Given the description of an element on the screen output the (x, y) to click on. 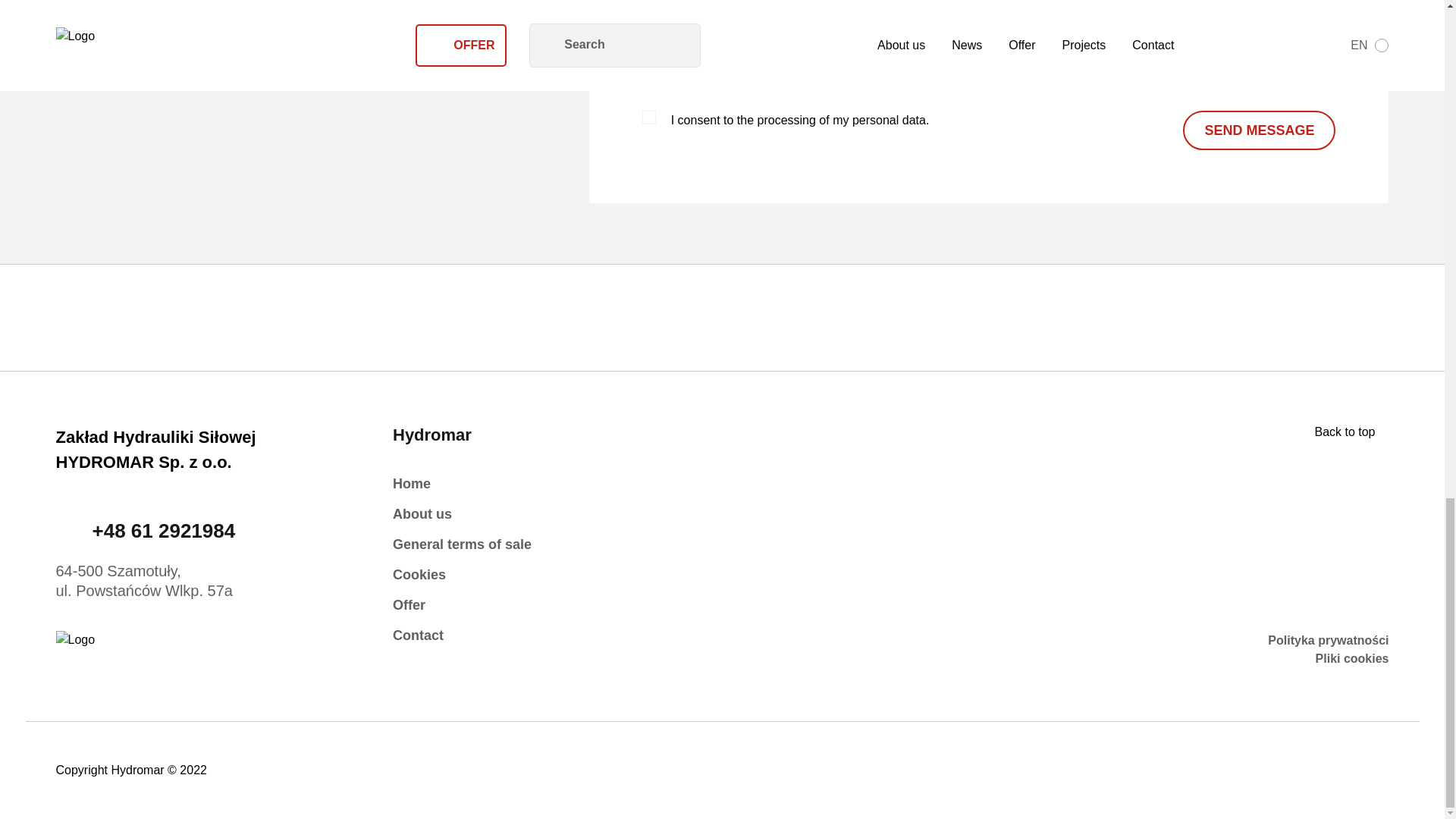
HYDROMAR (217, 649)
1 (649, 117)
